Given the description of an element on the screen output the (x, y) to click on. 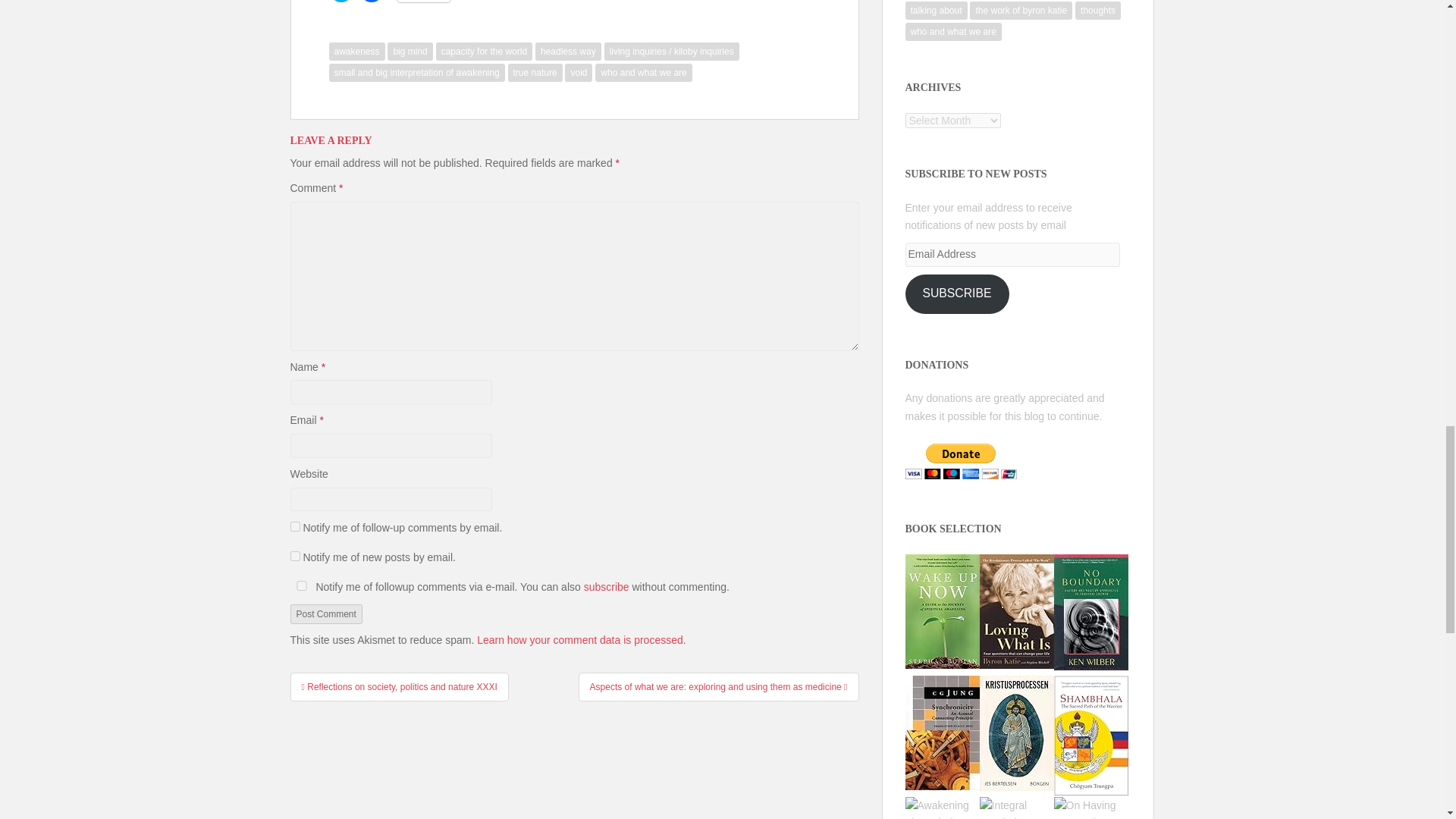
Wake Up Now: A Guide to the Journey of Spiritual Awakening (942, 610)
Loving What Is: Four Questions That Can Change Your Life (1016, 610)
Click to share on Facebook (371, 1)
Shambhala: The Sacred Path of the Warrior (1091, 734)
awakeness (357, 51)
big mind (409, 51)
Post Comment (325, 614)
Kristusprocessen (1016, 731)
More (424, 1)
PayPal - The safer, easier way to pay online! (960, 461)
Synchronicity: An Acausal Connecting Principle (942, 731)
Click to share on Twitter (341, 1)
headless way (568, 51)
subscribe (294, 556)
